Given the description of an element on the screen output the (x, y) to click on. 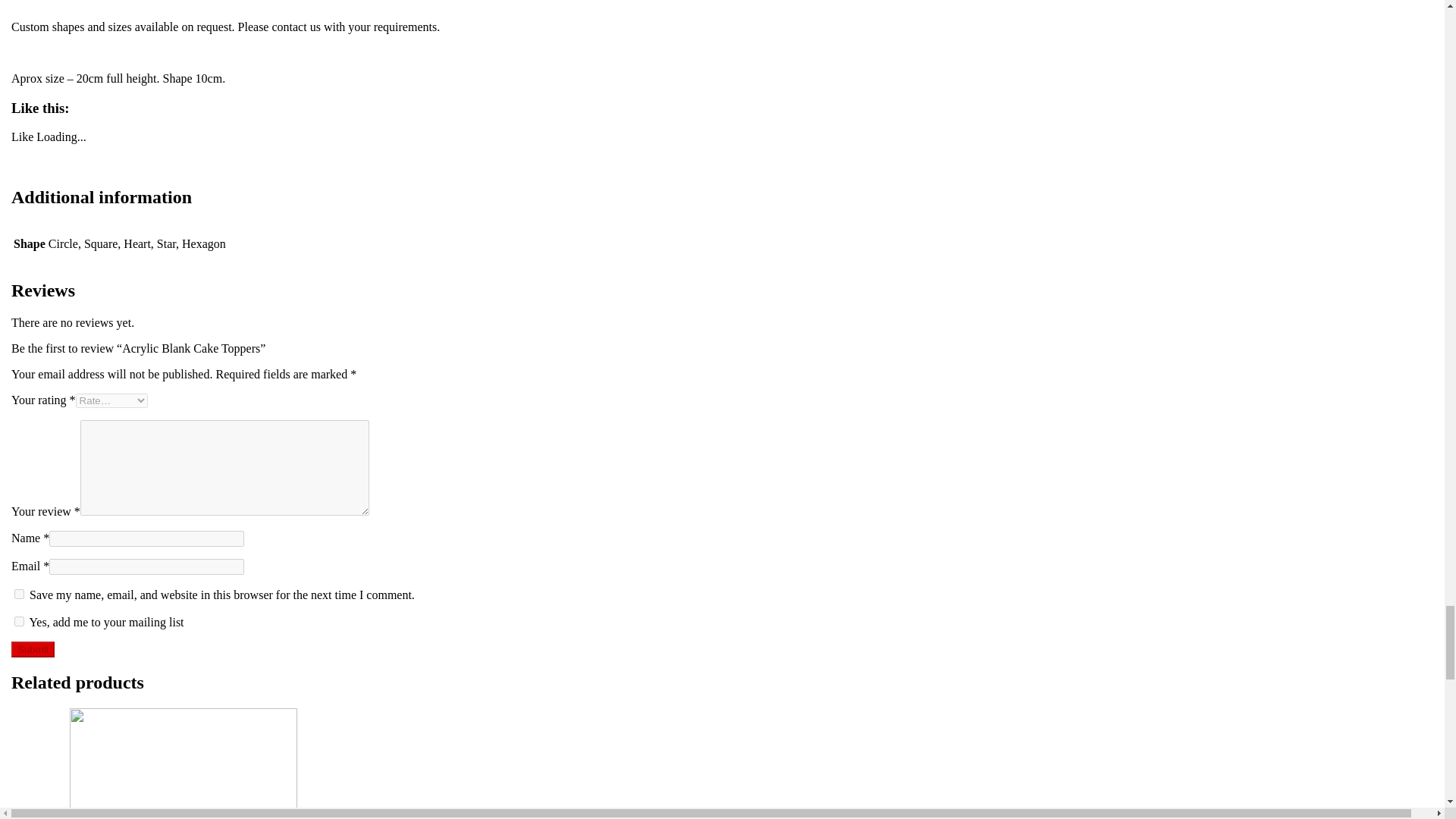
yes (19, 593)
Submit (33, 649)
1 (19, 621)
